Given the description of an element on the screen output the (x, y) to click on. 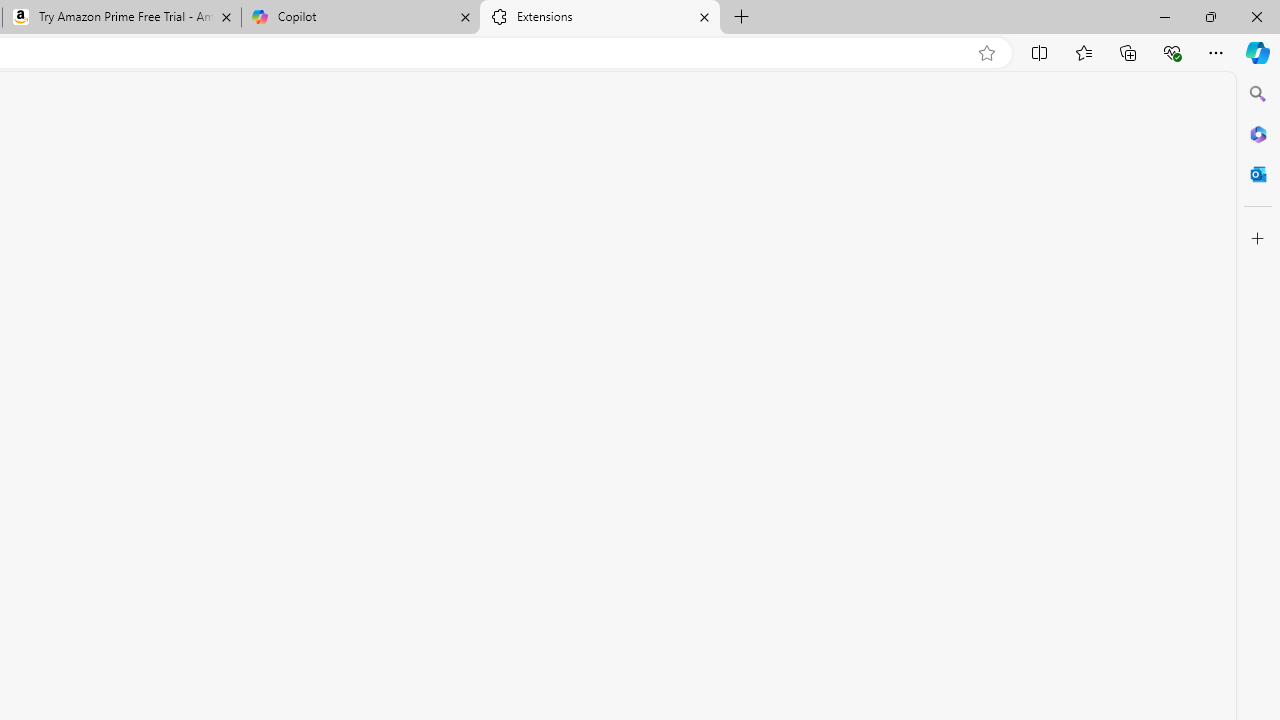
Copilot (360, 17)
